Given the description of an element on the screen output the (x, y) to click on. 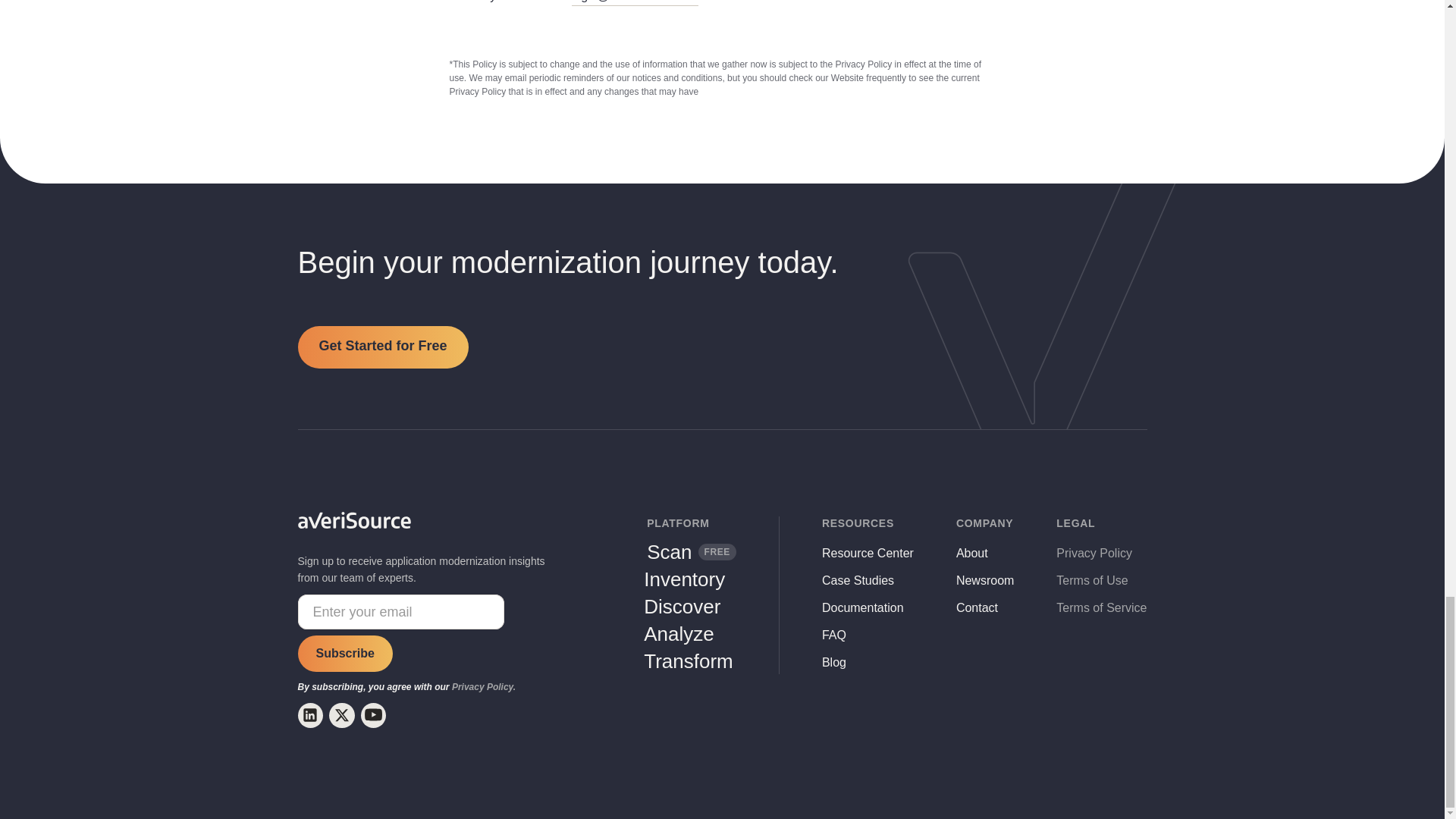
Discover (681, 607)
Subscribe (344, 653)
Subscribe (344, 653)
Inventory (683, 580)
Get Started for Free (382, 346)
Privacy Policy. (691, 552)
